Given the description of an element on the screen output the (x, y) to click on. 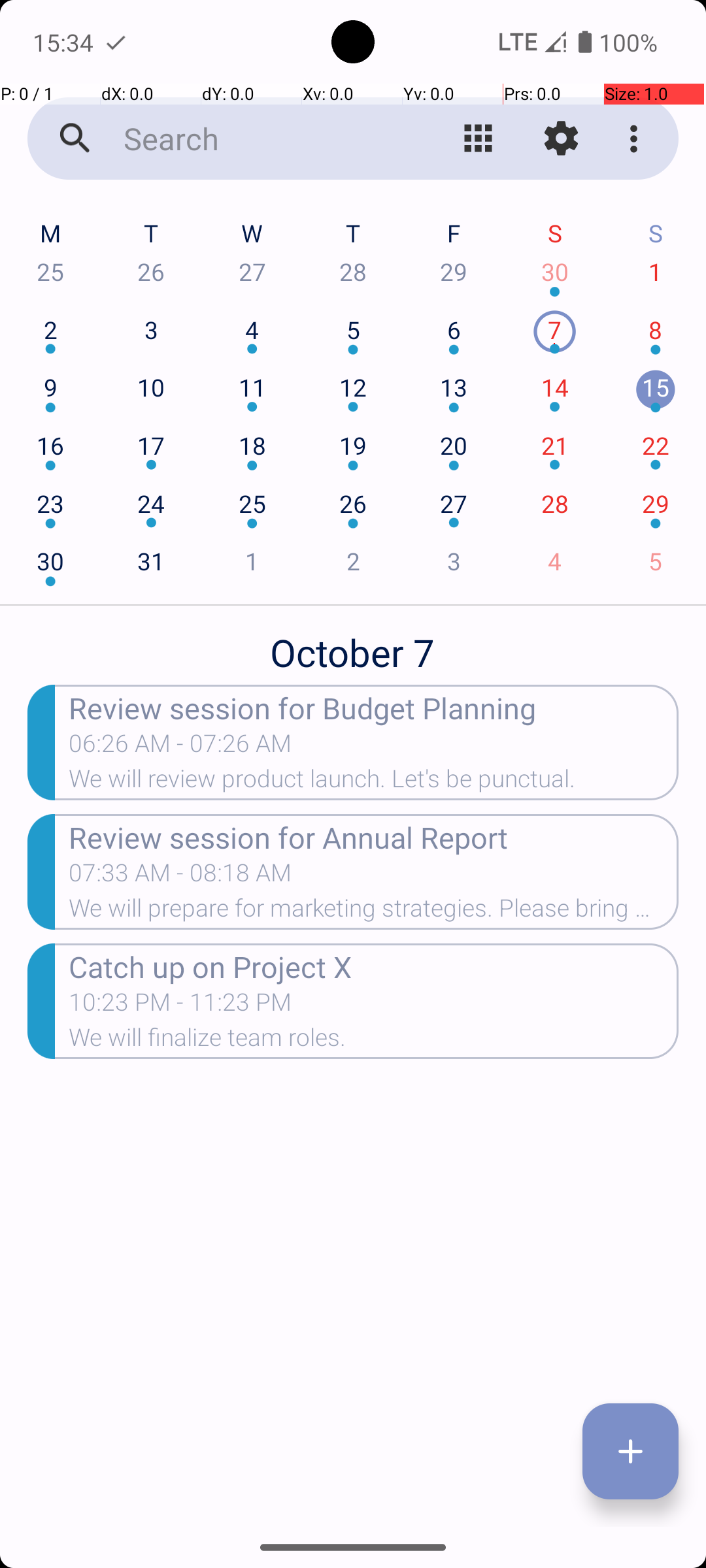
October 7 Element type: android.widget.TextView (352, 644)
06:26 AM - 07:26 AM Element type: android.widget.TextView (179, 747)
We will review product launch. Let's be punctual. Element type: android.widget.TextView (373, 782)
07:33 AM - 08:18 AM Element type: android.widget.TextView (179, 876)
We will prepare for marketing strategies. Please bring relevant documents. Element type: android.widget.TextView (373, 911)
10:23 PM - 11:23 PM Element type: android.widget.TextView (179, 1005)
We will finalize team roles. Element type: android.widget.TextView (373, 1041)
